Given the description of an element on the screen output the (x, y) to click on. 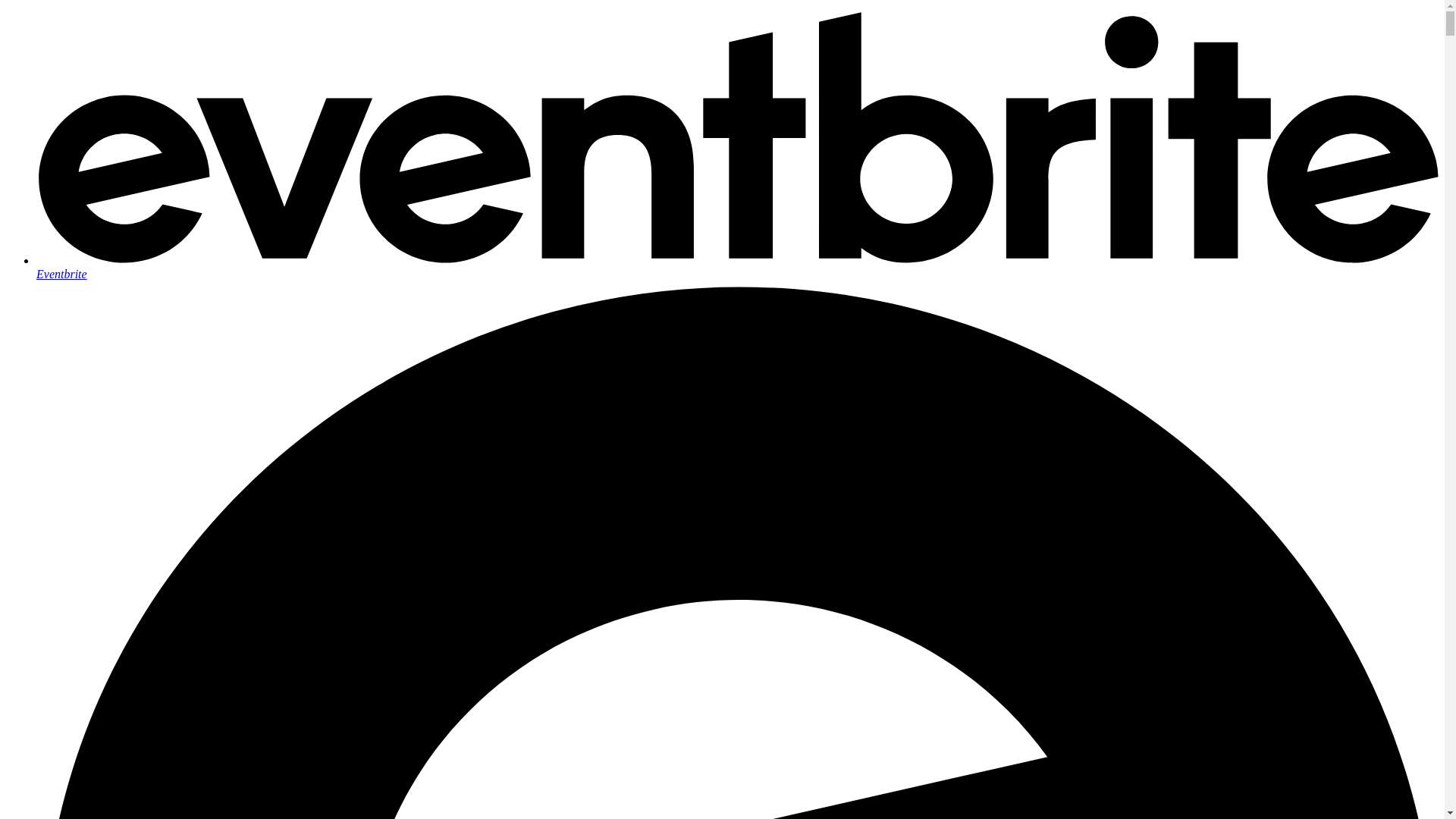
Eventbrite Element type: text (737, 267)
